Given the description of an element on the screen output the (x, y) to click on. 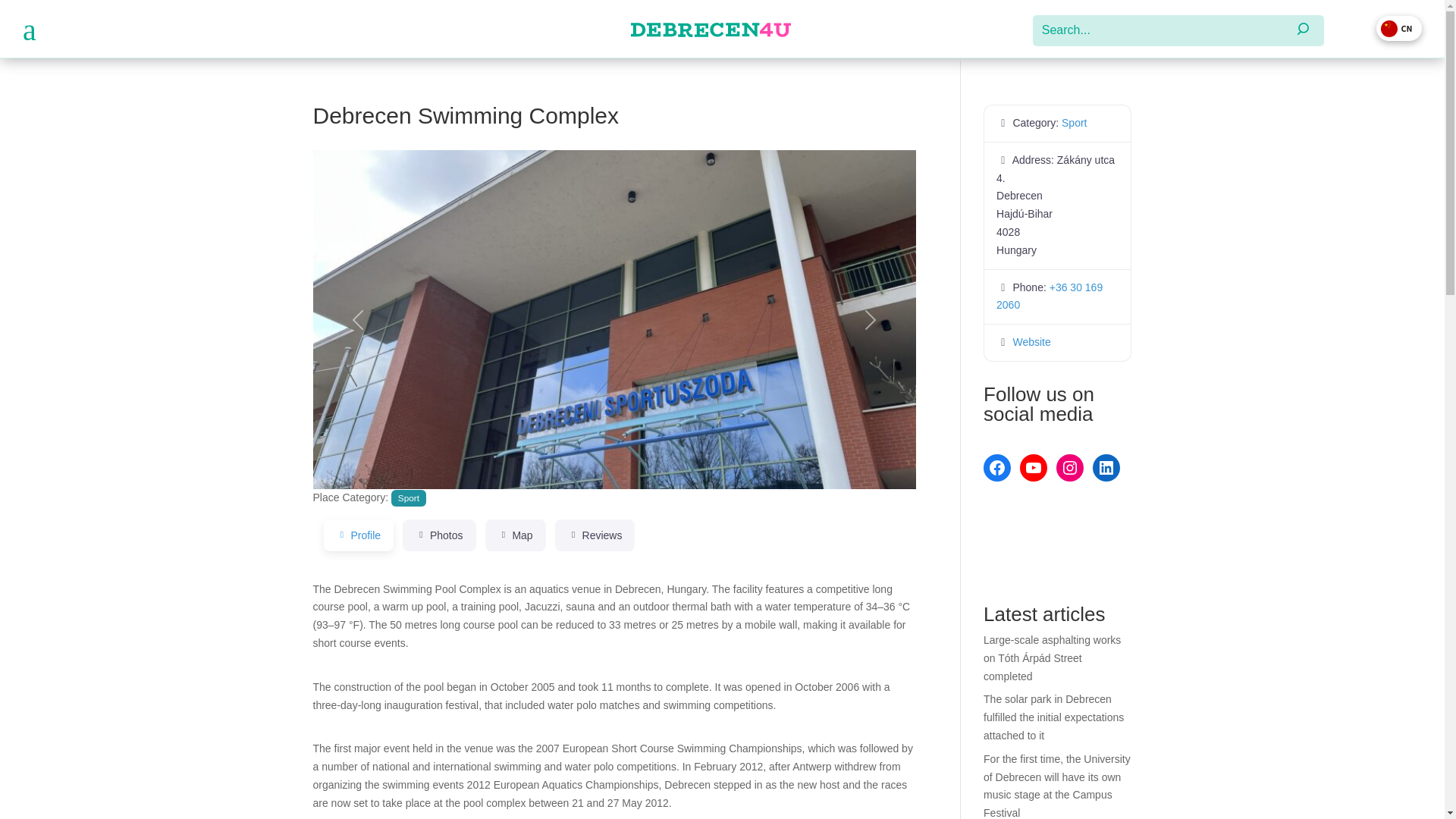
Map (515, 535)
Search (21, 15)
Reviews (594, 535)
Profile (358, 535)
Photos (439, 535)
debrecen4u (710, 29)
